Given the description of an element on the screen output the (x, y) to click on. 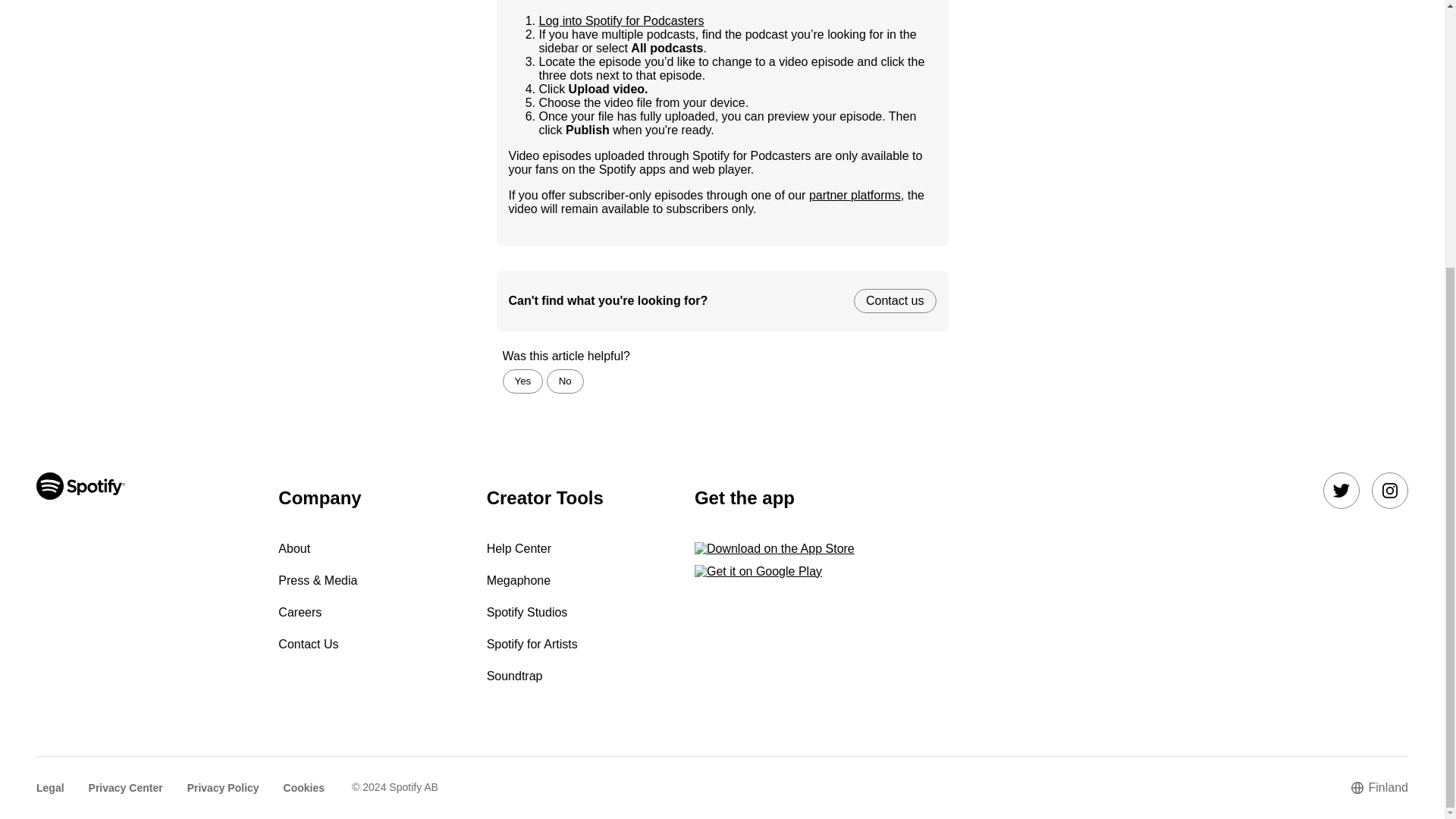
Contact Us (307, 644)
Help Center (518, 548)
Spotify (138, 577)
Careers (299, 612)
Yes (522, 381)
Megaphone (518, 580)
partner platforms (855, 195)
About (294, 548)
No (565, 381)
Contact us (894, 300)
Log into Spotify for Podcasters (620, 20)
Spotify (80, 485)
